Given the description of an element on the screen output the (x, y) to click on. 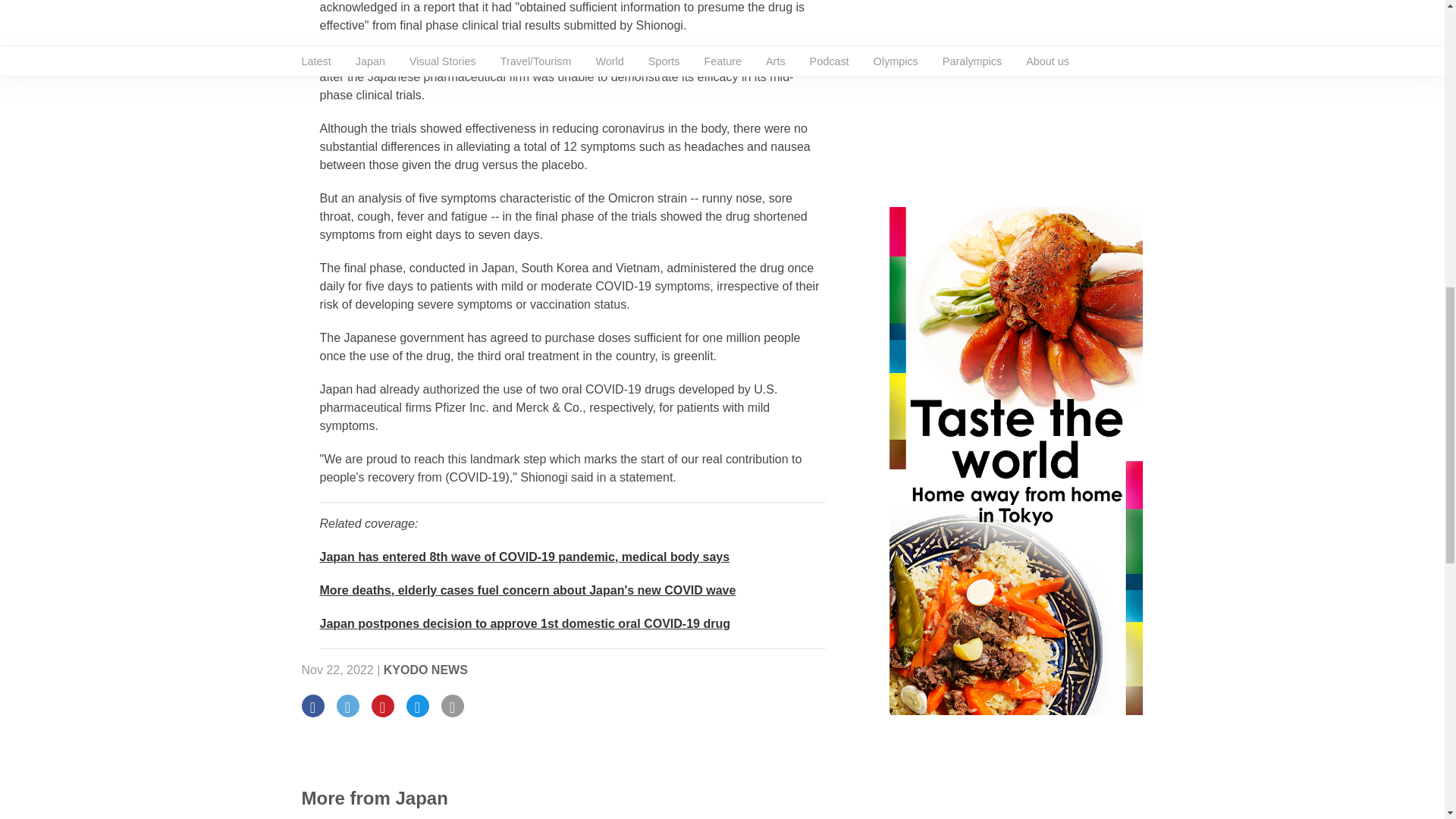
Kyodo News Plus (525, 556)
Kyodo News Plus (525, 623)
KYODO NEWS (425, 669)
Kyodo News Plus (528, 590)
